Given the description of an element on the screen output the (x, y) to click on. 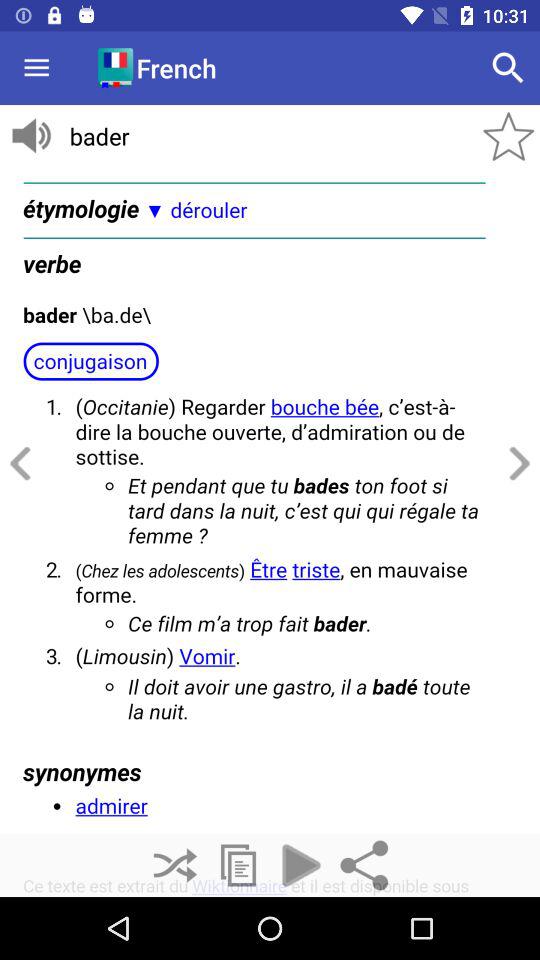
text page (270, 532)
